Given the description of an element on the screen output the (x, y) to click on. 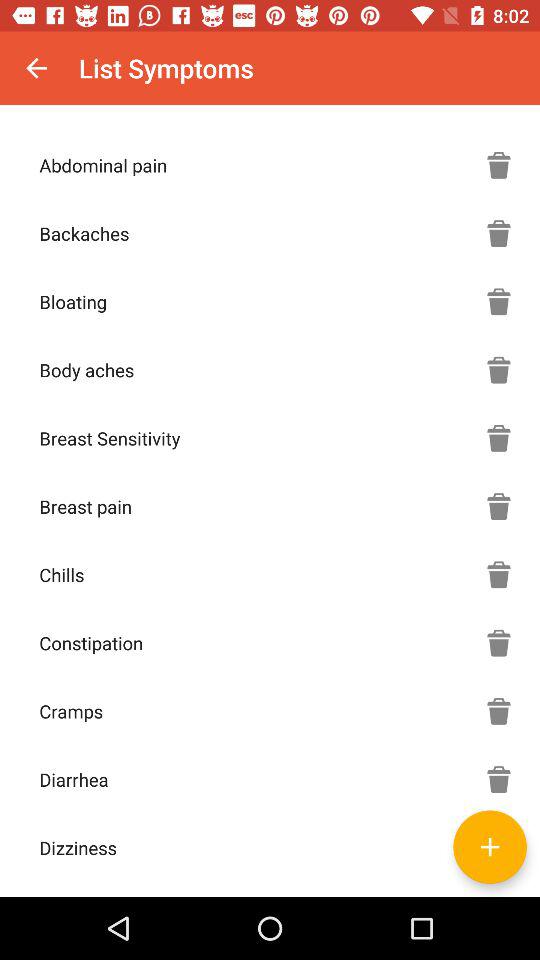
delete (499, 574)
